Given the description of an element on the screen output the (x, y) to click on. 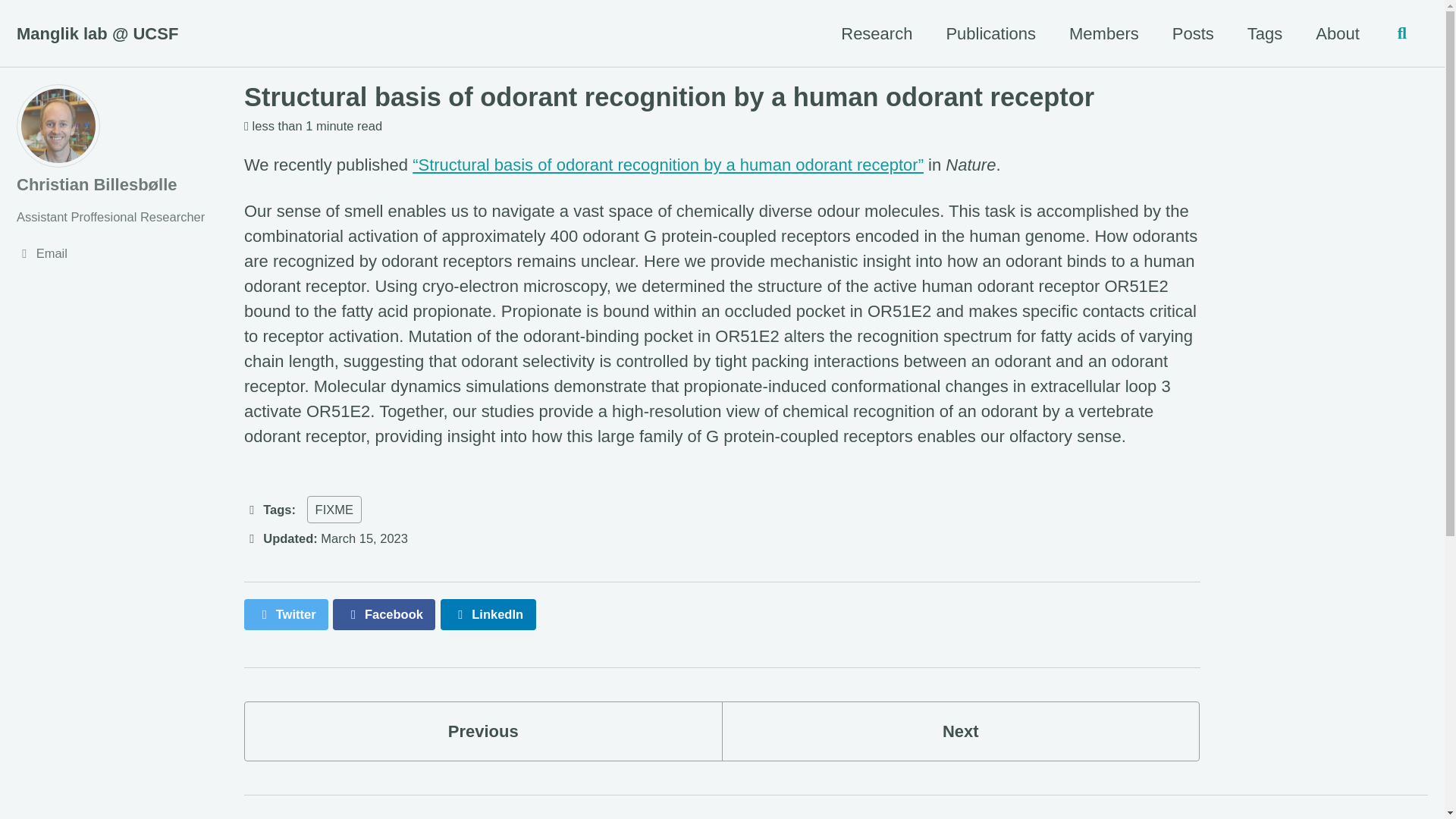
Posts (1193, 33)
Tags (1264, 33)
Share on Facebook (384, 613)
About (1337, 33)
LinkedIn (488, 613)
Publications (989, 33)
Next (960, 731)
Share on LinkedIn (488, 613)
